Given the description of an element on the screen output the (x, y) to click on. 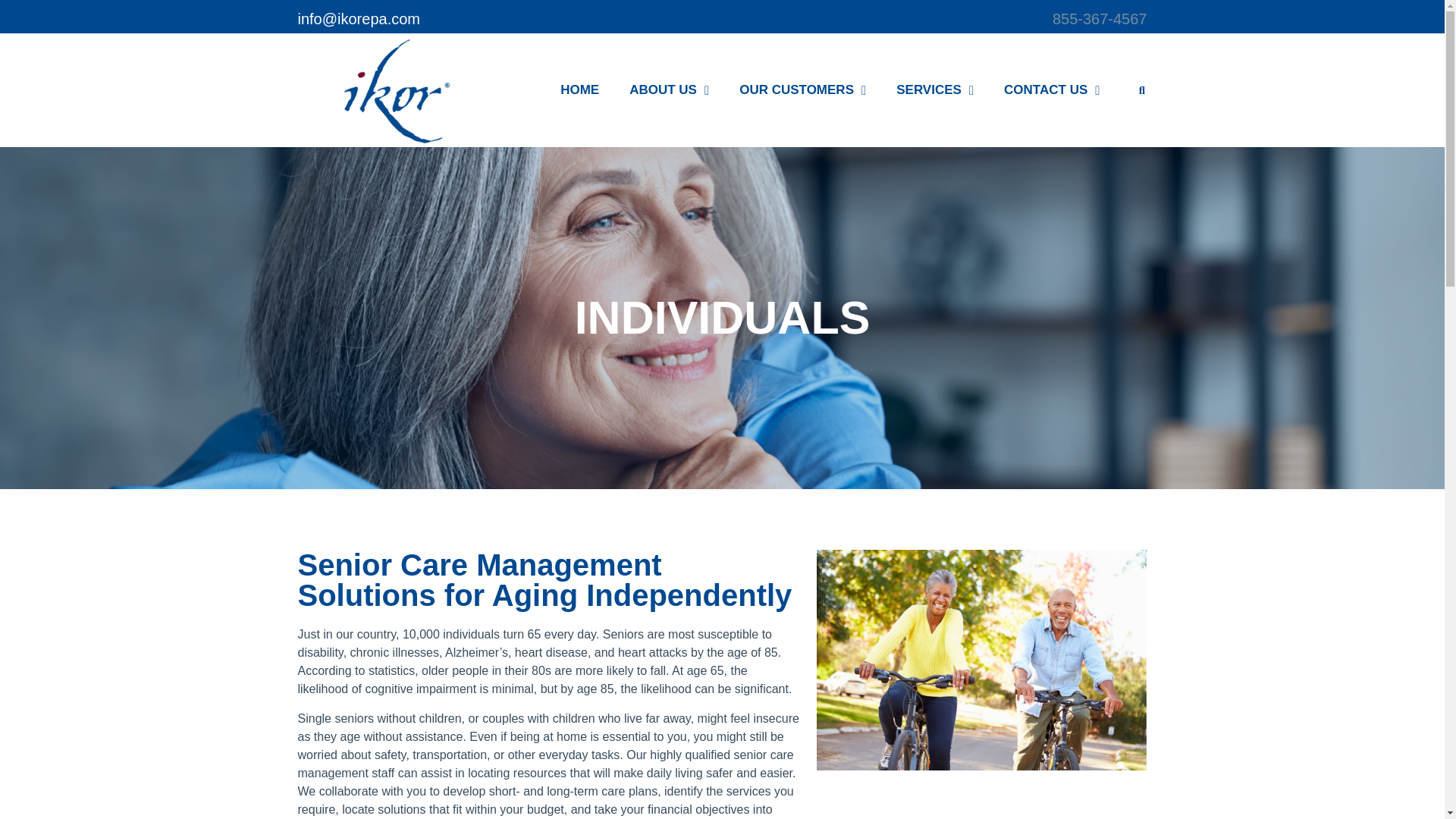
HOME (579, 89)
ABOUT US (668, 89)
SERVICES (934, 89)
855-367-4567 (1099, 18)
CONTACT US (1051, 89)
OUR CUSTOMERS (801, 89)
